Given the description of an element on the screen output the (x, y) to click on. 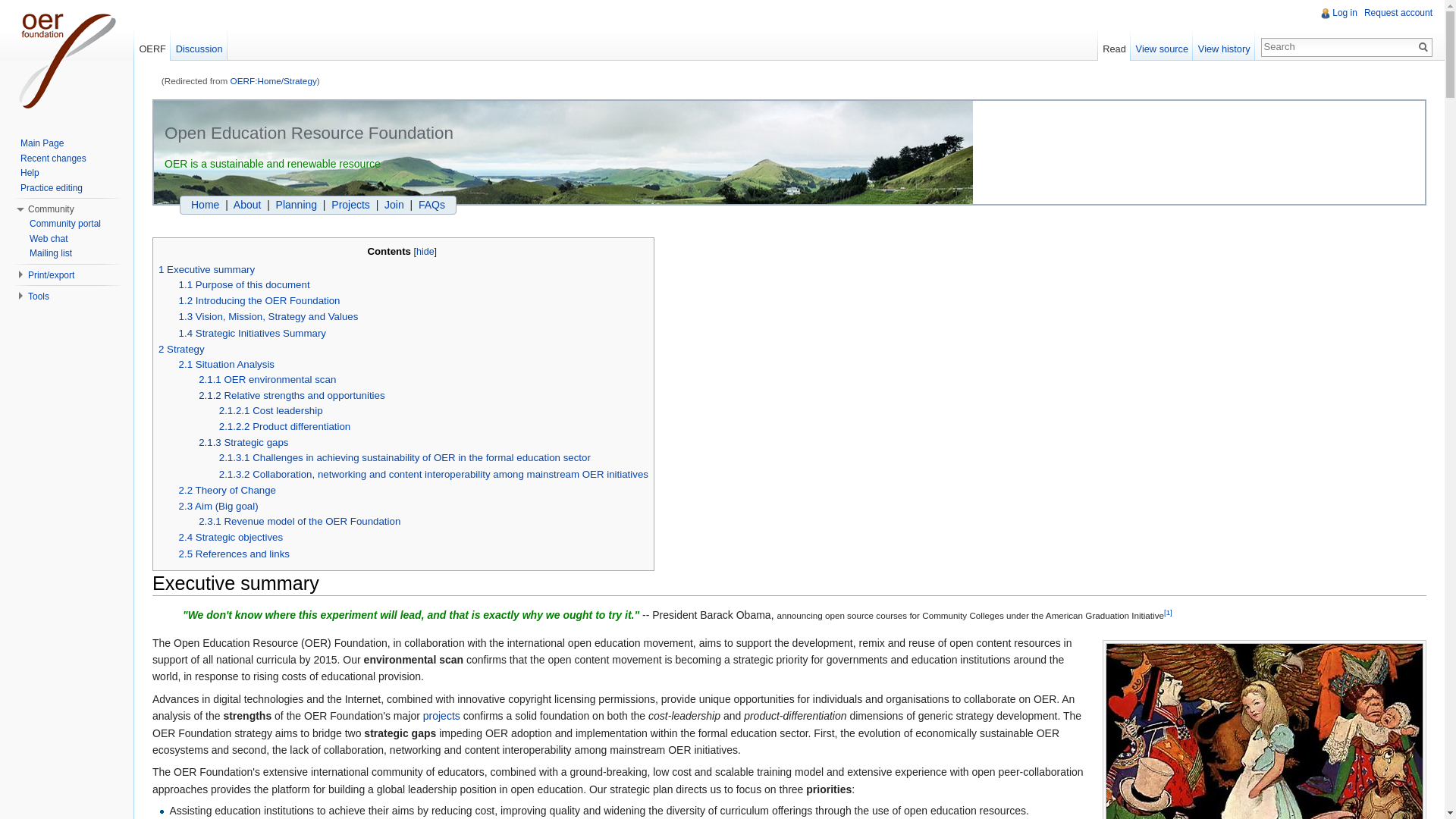
Home (204, 204)
2 Strategy (181, 348)
2.1.2 Relative strengths and opportunities (291, 395)
OERF:Join (394, 204)
About (247, 204)
1.2 Introducing the OER Foundation (259, 300)
2.1.2.1 Cost leadership (271, 410)
2.1.3 Strategic gaps (243, 441)
1.1 Purpose of this document (244, 284)
